Given the description of an element on the screen output the (x, y) to click on. 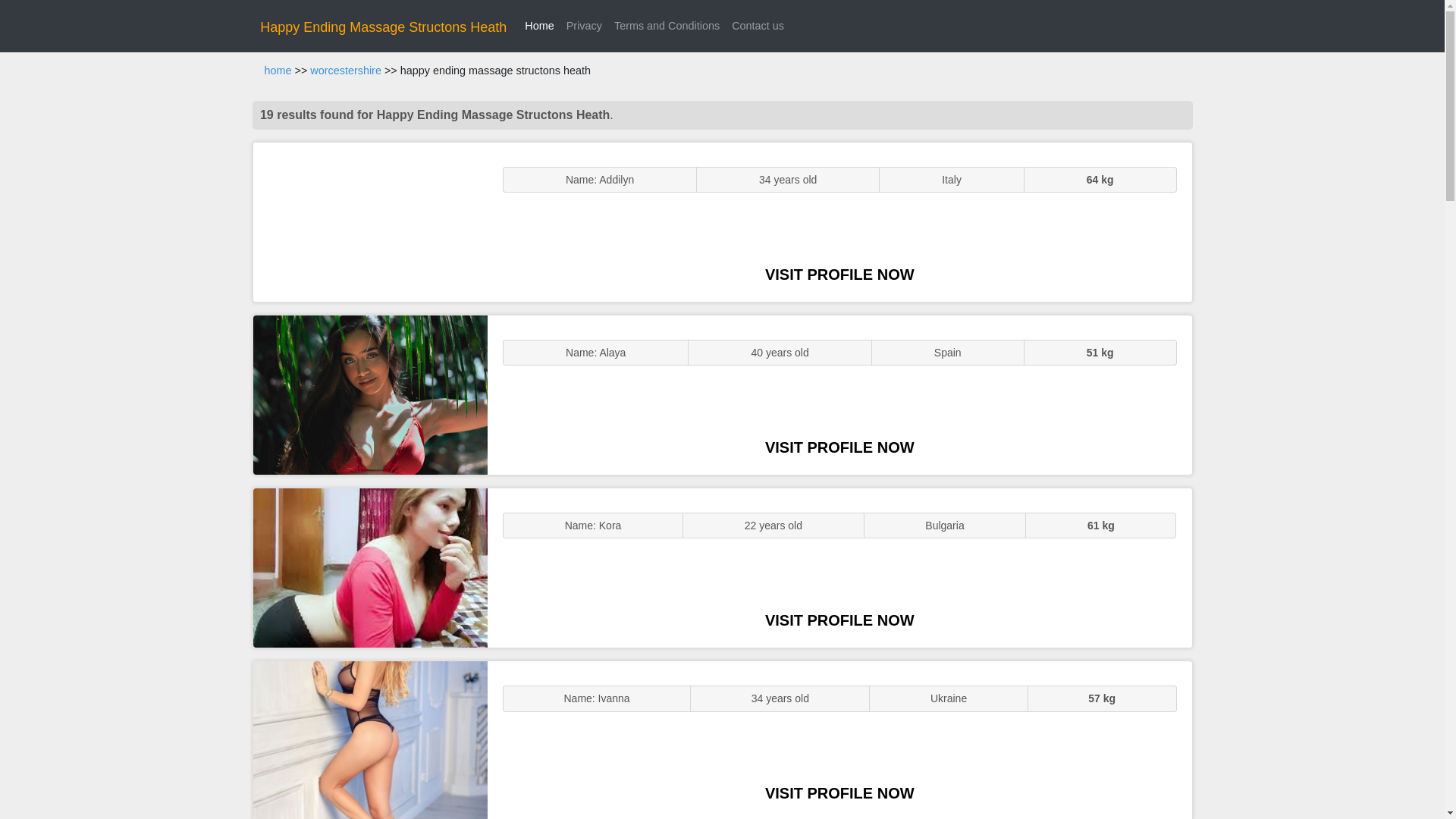
Sexy (370, 567)
 ENGLISH STUNNER (370, 222)
Sluts (370, 739)
VISIT PROFILE NOW (839, 792)
VISIT PROFILE NOW (839, 274)
VISIT PROFILE NOW (839, 619)
Happy Ending Massage Structons Heath (383, 27)
Privacy (584, 25)
Contact us (757, 25)
VISIT PROFILE NOW (839, 446)
